Given the description of an element on the screen output the (x, y) to click on. 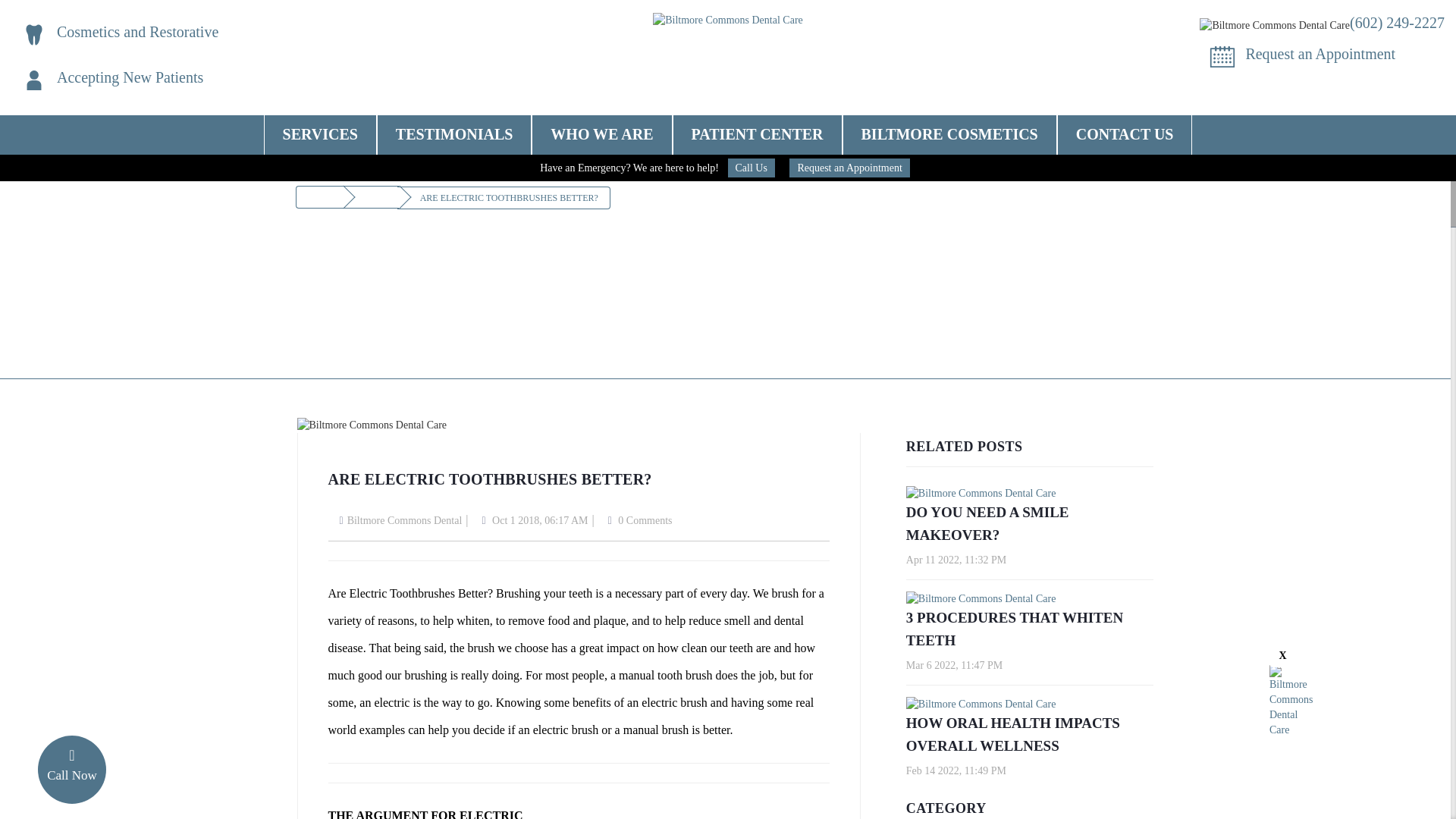
Request an Appointment (1319, 53)
Accepting New Patients (129, 76)
Cosmetics and Restorative (137, 31)
Biltmore Commons Dental Care image (1274, 25)
BILTMORE COSMETICS (950, 133)
Biltmore Commons Dental Care image (727, 20)
Biltmore Commons Dental Care link (137, 31)
TESTIMONIALS (454, 128)
PATIENT CENTER (756, 133)
Biltmore Commons Dental Care image (33, 80)
